Given the description of an element on the screen output the (x, y) to click on. 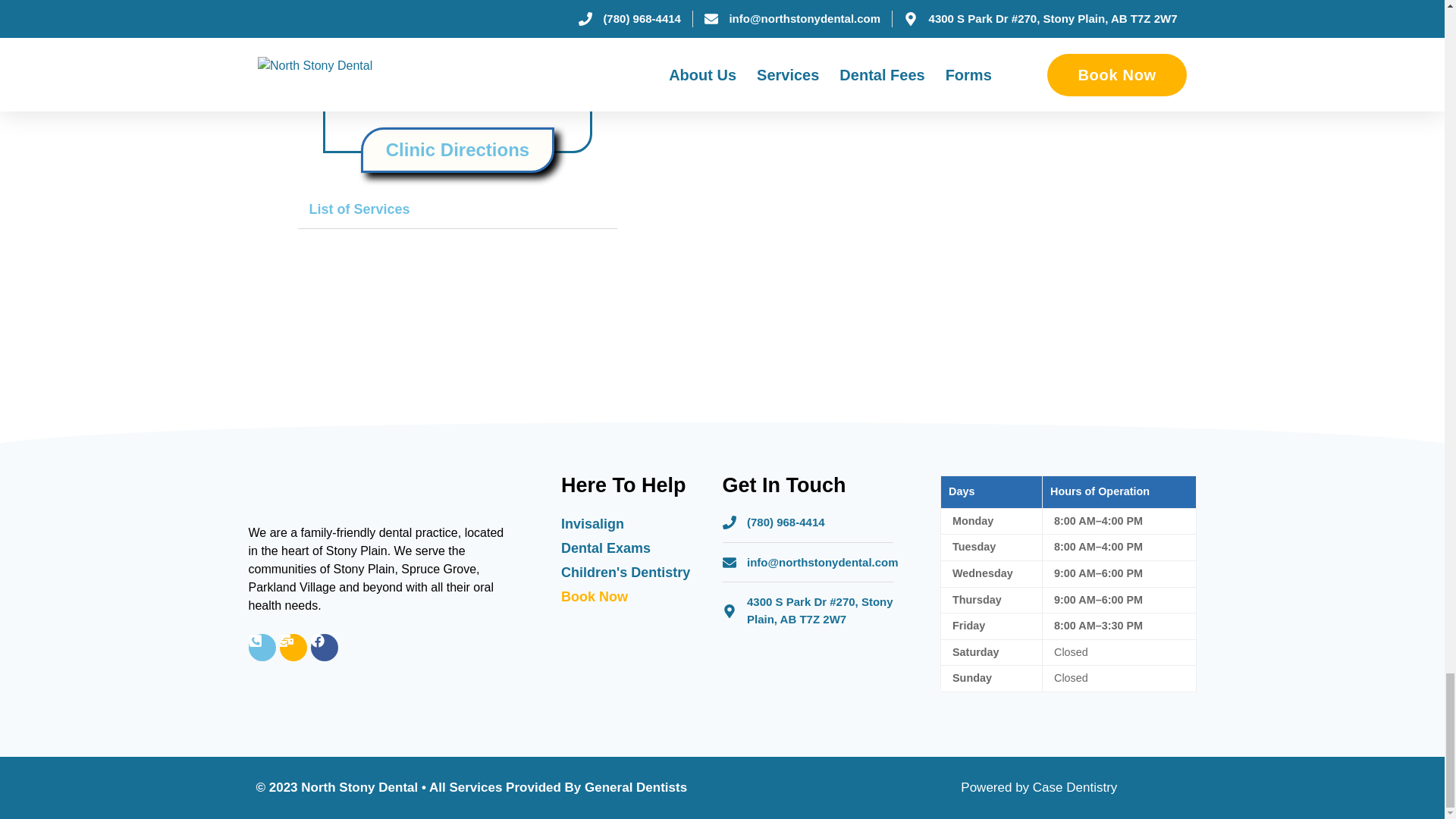
North Stony Dental, Dentist in Stony Plain 6 (745, 123)
North Stony Dental (456, 75)
North Stony Dental, Dentist in Stony Plain 10 (1002, 60)
